Given the description of an element on the screen output the (x, y) to click on. 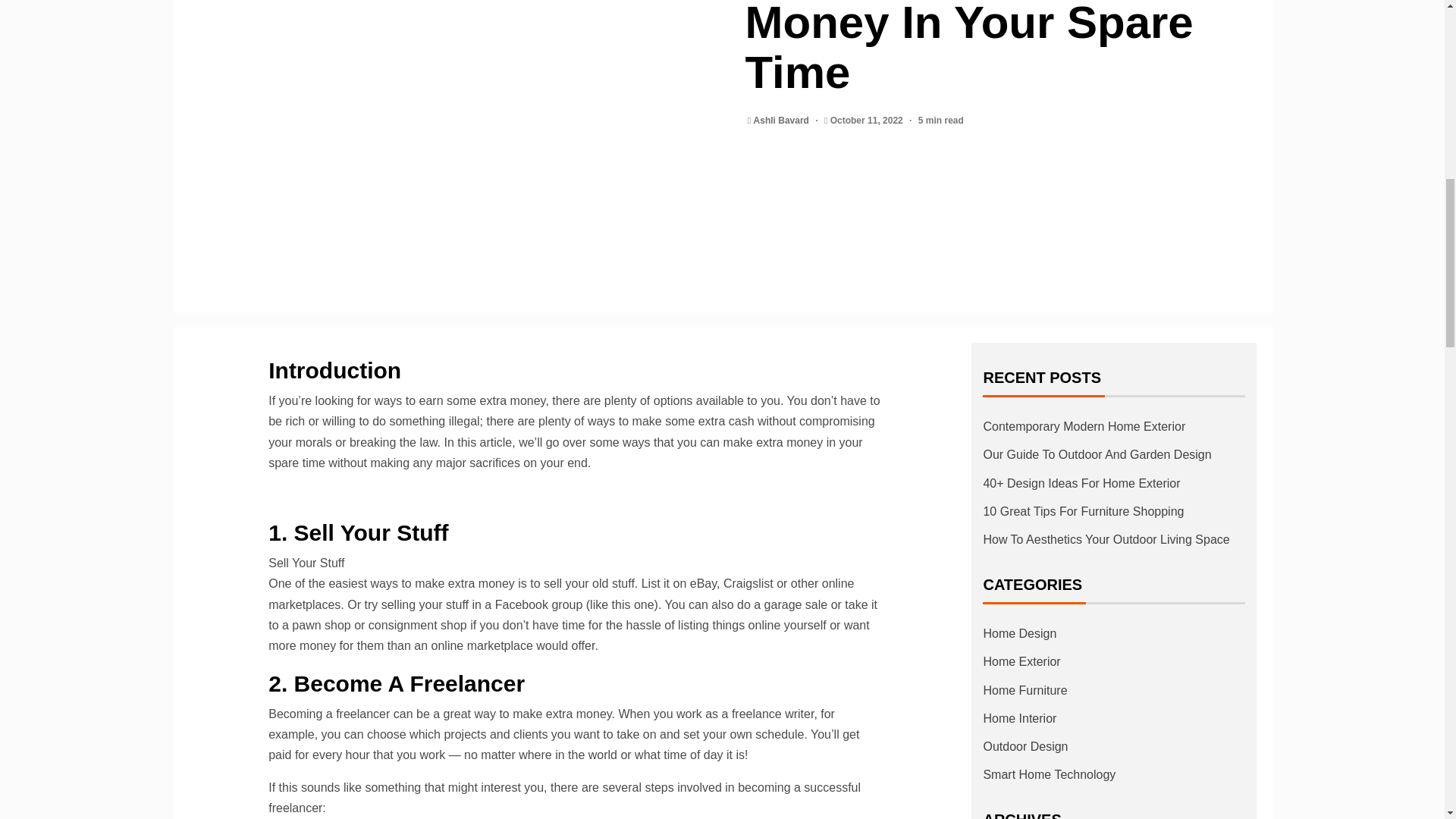
Ashli Bavard (783, 120)
Contemporary Modern Home Exterior (1083, 426)
